Given the description of an element on the screen output the (x, y) to click on. 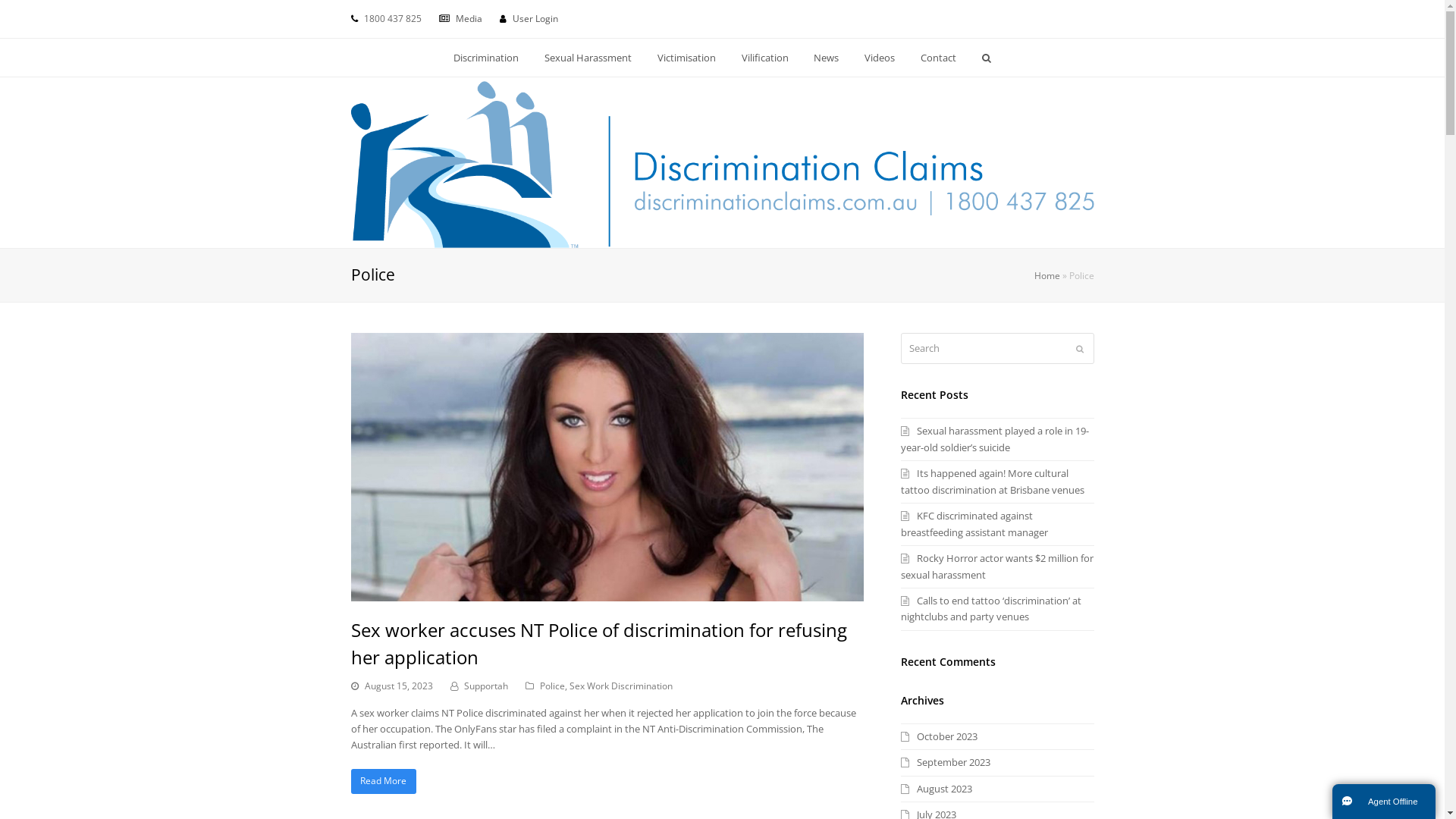
Read More Element type: text (383, 780)
Vilification Element type: text (764, 57)
User Login Element type: text (535, 18)
Rocky Horror actor wants $2 million for sexual harassment Element type: text (996, 565)
Victimisation Element type: text (686, 57)
Police Element type: text (551, 685)
Submit Element type: text (1078, 348)
Home Element type: text (1047, 275)
Media Element type: text (468, 18)
Sexual Harassment Element type: text (588, 57)
Videos Element type: text (879, 57)
Discrimination Element type: text (486, 57)
Contact Element type: text (938, 57)
October 2023 Element type: text (938, 736)
KFC discriminated against breastfeeding assistant manager Element type: text (974, 523)
September 2023 Element type: text (945, 761)
Sex Work Discrimination Element type: text (619, 685)
Supportah Element type: text (486, 685)
News Element type: text (826, 57)
August 2023 Element type: text (936, 788)
